Given the description of an element on the screen output the (x, y) to click on. 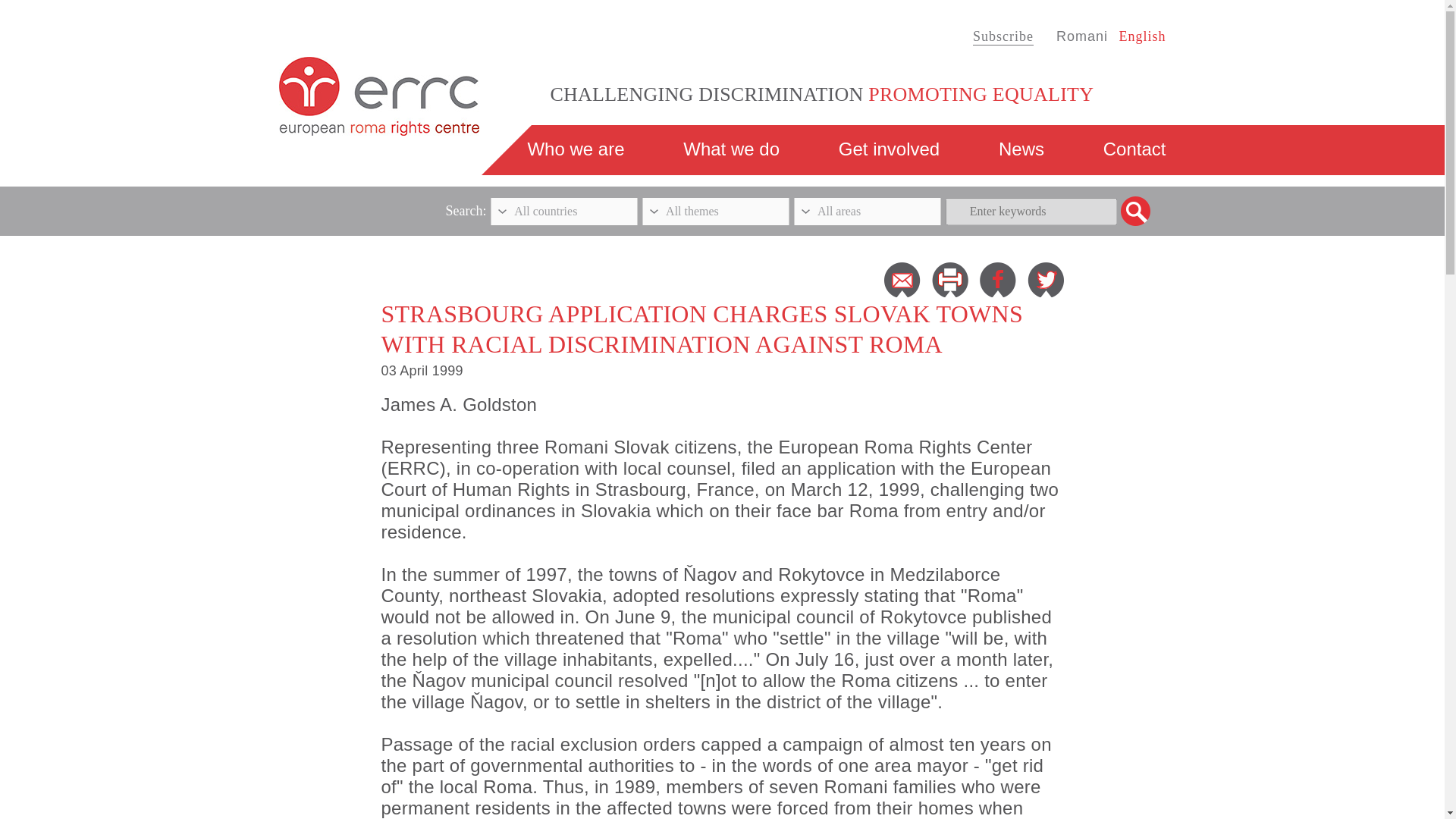
English (1142, 36)
Get involved (888, 148)
Romani (1082, 36)
Contact (1134, 148)
What we do (730, 148)
Who we are (575, 148)
Subscribe (1002, 36)
News (1020, 148)
